Given the description of an element on the screen output the (x, y) to click on. 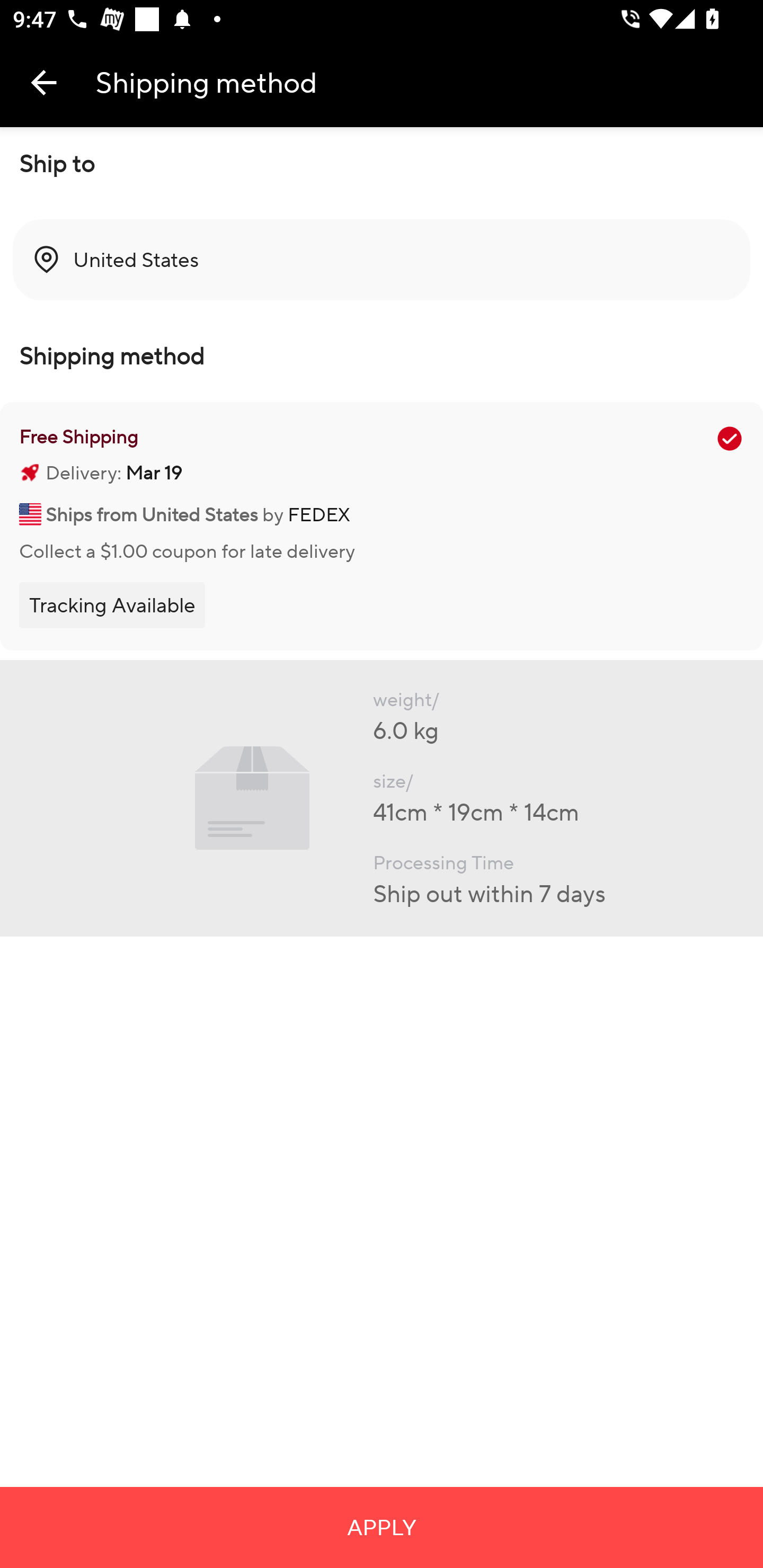
 United States (381, 260)
APPLY (381, 1527)
